Given the description of an element on the screen output the (x, y) to click on. 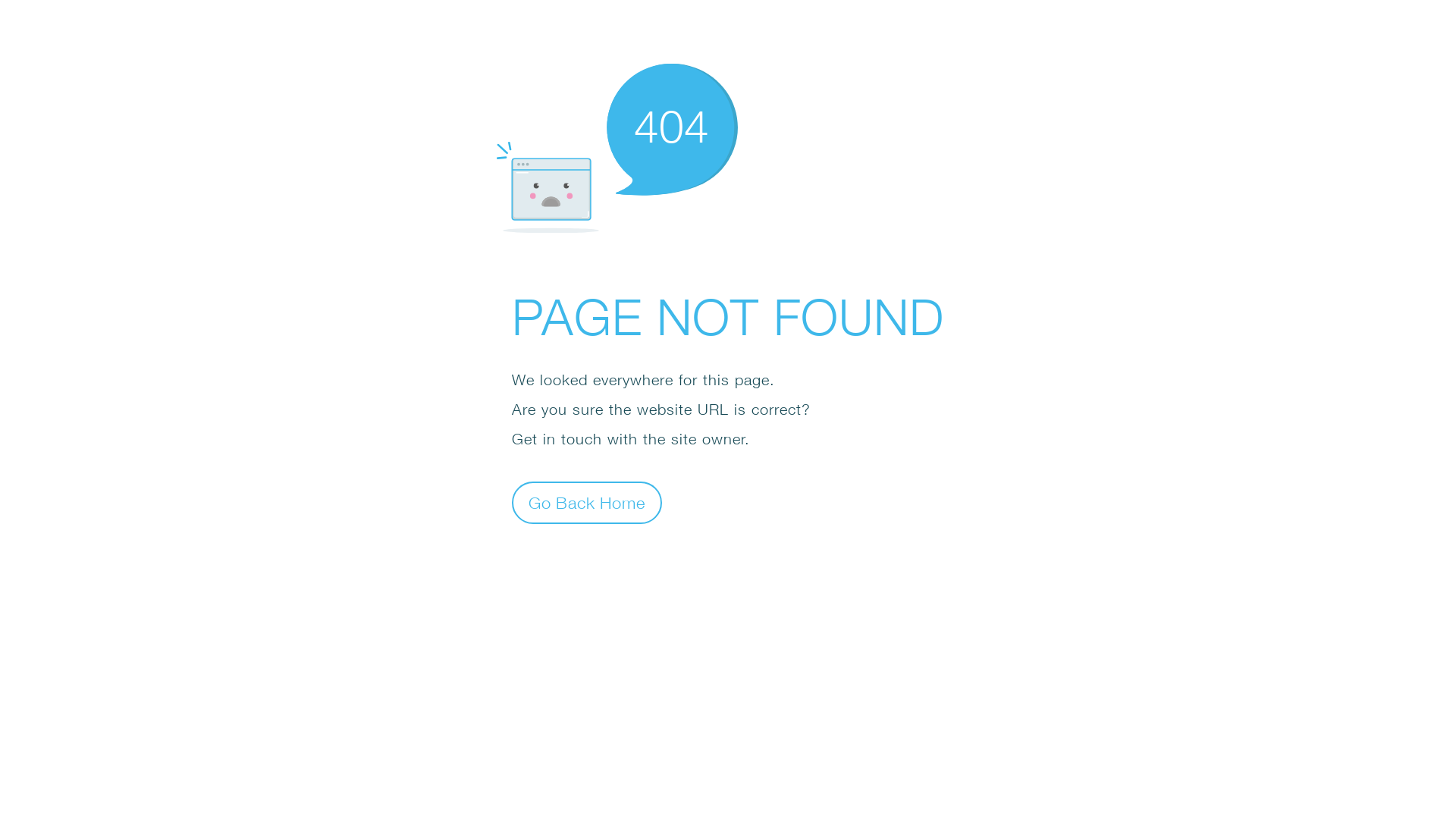
Go Back Home Element type: text (586, 502)
